Given the description of an element on the screen output the (x, y) to click on. 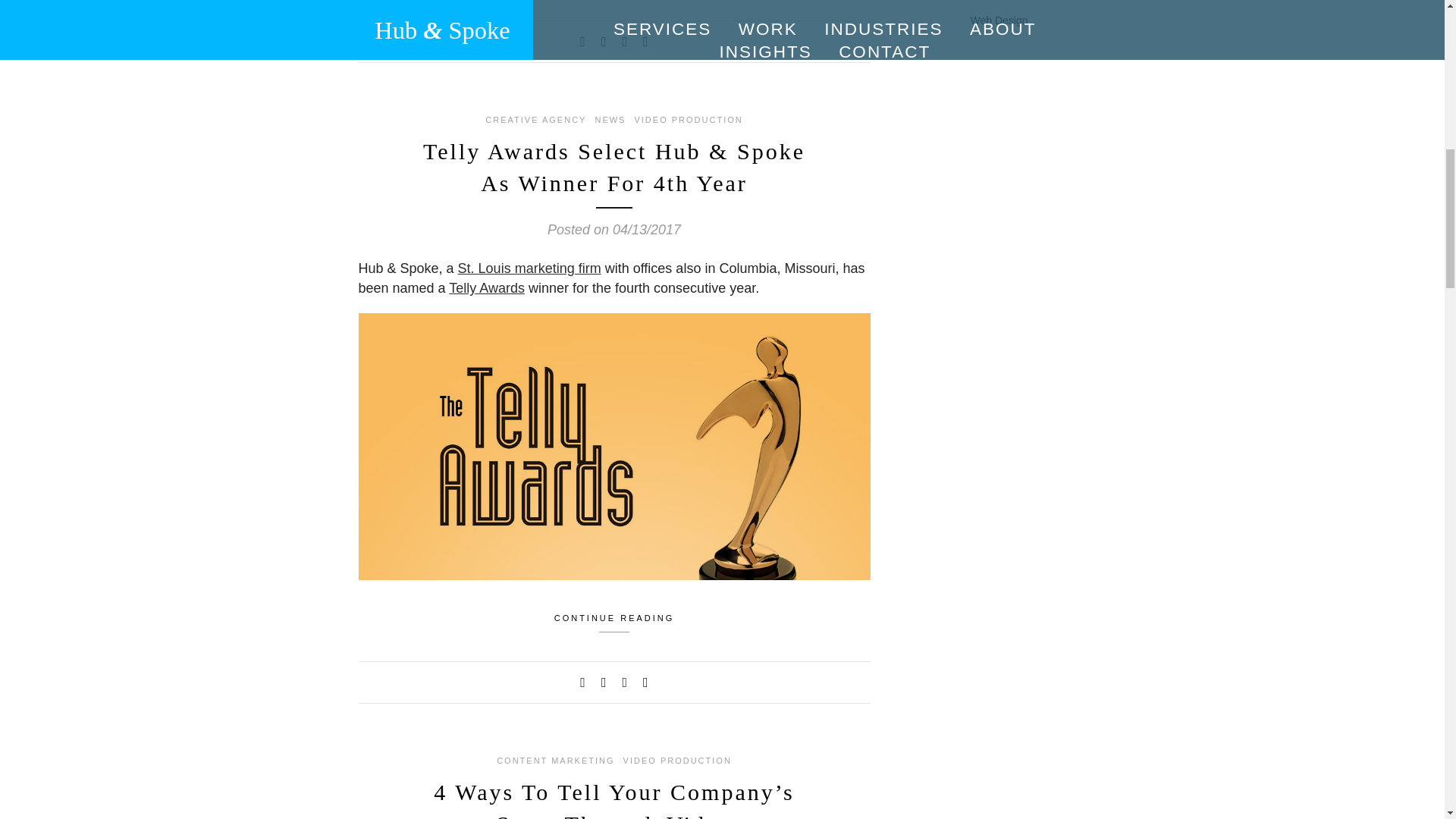
Telly Awards (486, 287)
CONTENT MARKETING (555, 760)
St. Louis marketing firm (529, 268)
CREATIVE AGENCY (535, 119)
VIDEO PRODUCTION (677, 760)
CONTINUE READING (613, 620)
VIDEO PRODUCTION (687, 119)
NEWS (610, 119)
